Given the description of an element on the screen output the (x, y) to click on. 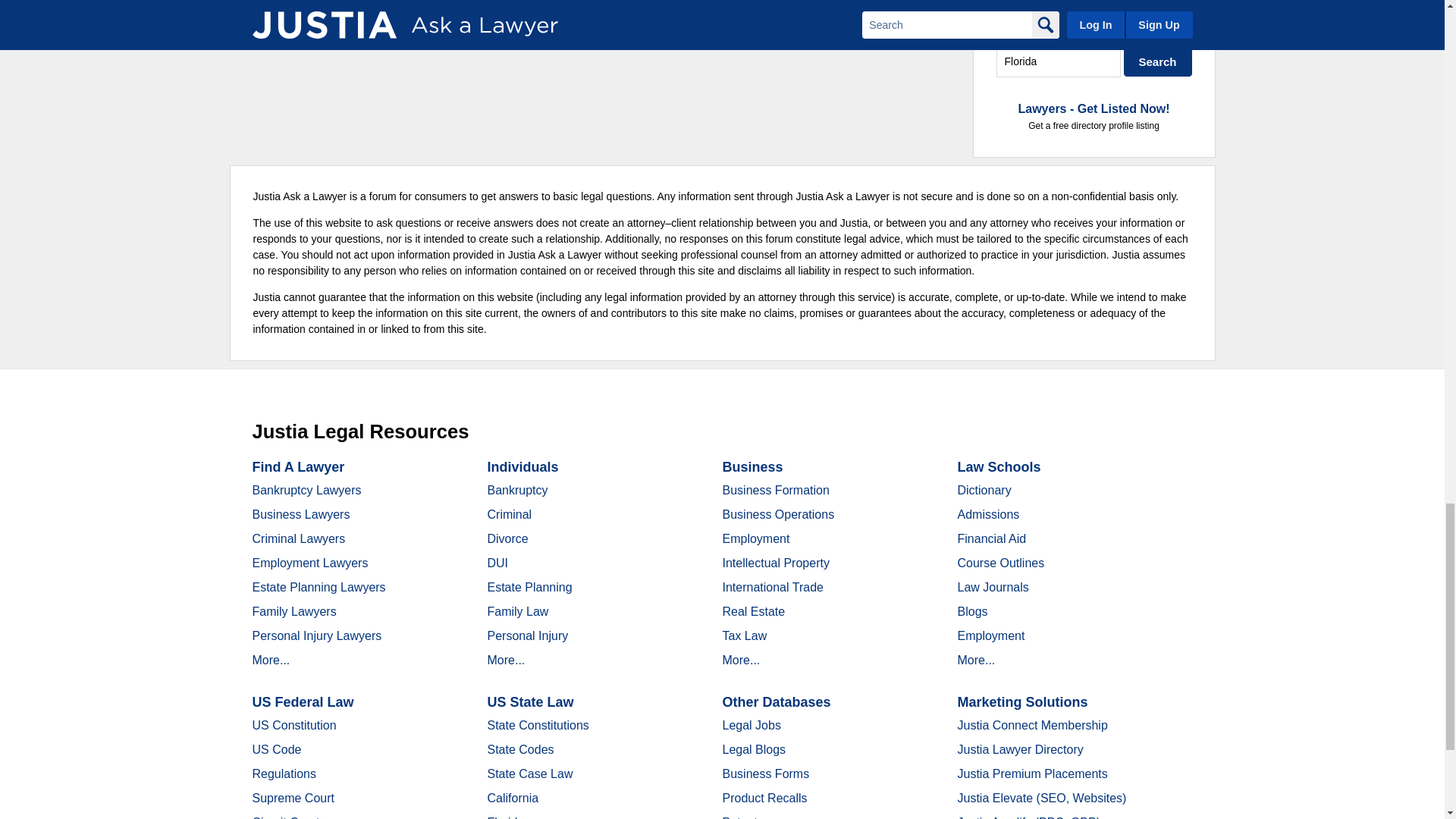
Search (1158, 61)
City, State (1058, 61)
Real Estate Law (1093, 28)
Search (1158, 61)
Florida (1058, 61)
Legal Issue or Lawyer Name (1093, 28)
